Given the description of an element on the screen output the (x, y) to click on. 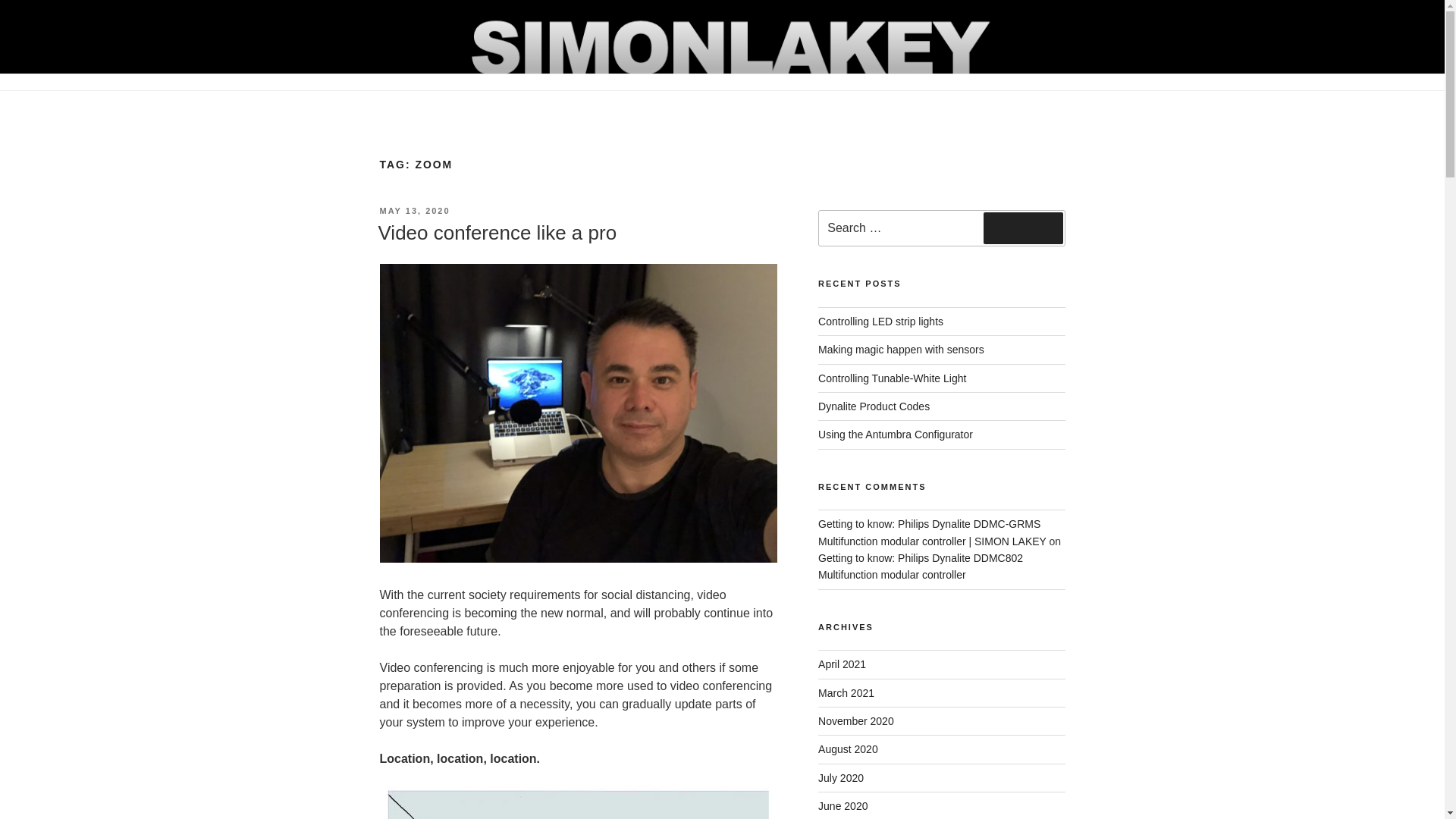
Making magic happen with sensors (901, 349)
June 2020 (842, 806)
July 2020 (840, 777)
Video conference like a pro (496, 232)
April 2021 (842, 664)
Controlling LED strip lights (880, 321)
MAY 13, 2020 (413, 210)
March 2021 (846, 693)
Using the Antumbra Configurator (895, 434)
